Given the description of an element on the screen output the (x, y) to click on. 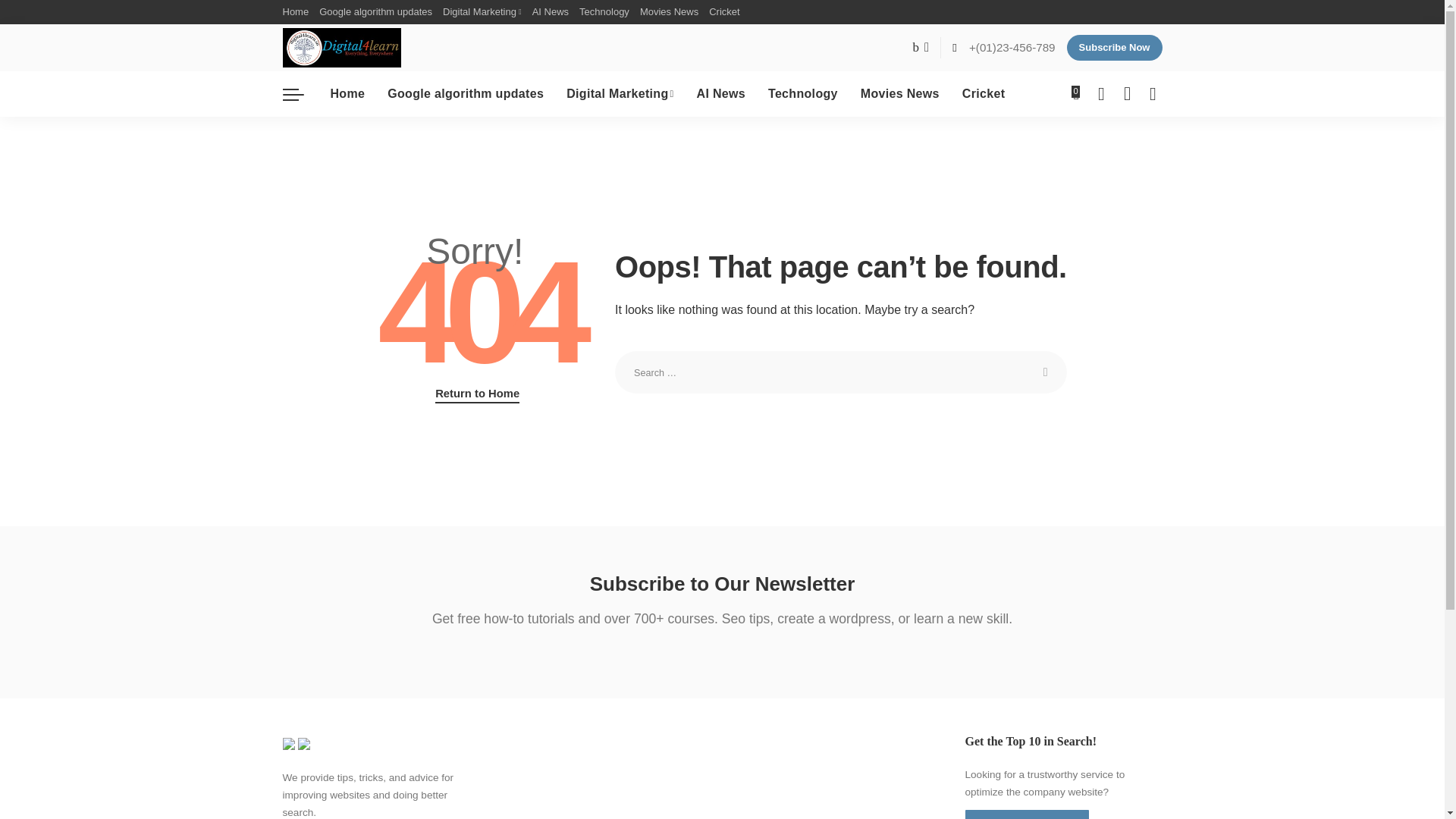
Search (1046, 372)
Google algorithm updates (376, 11)
Digital4learn (341, 47)
Home (298, 11)
Search (1046, 372)
Return to Home (477, 393)
Digital Marketing (482, 11)
